Given the description of an element on the screen output the (x, y) to click on. 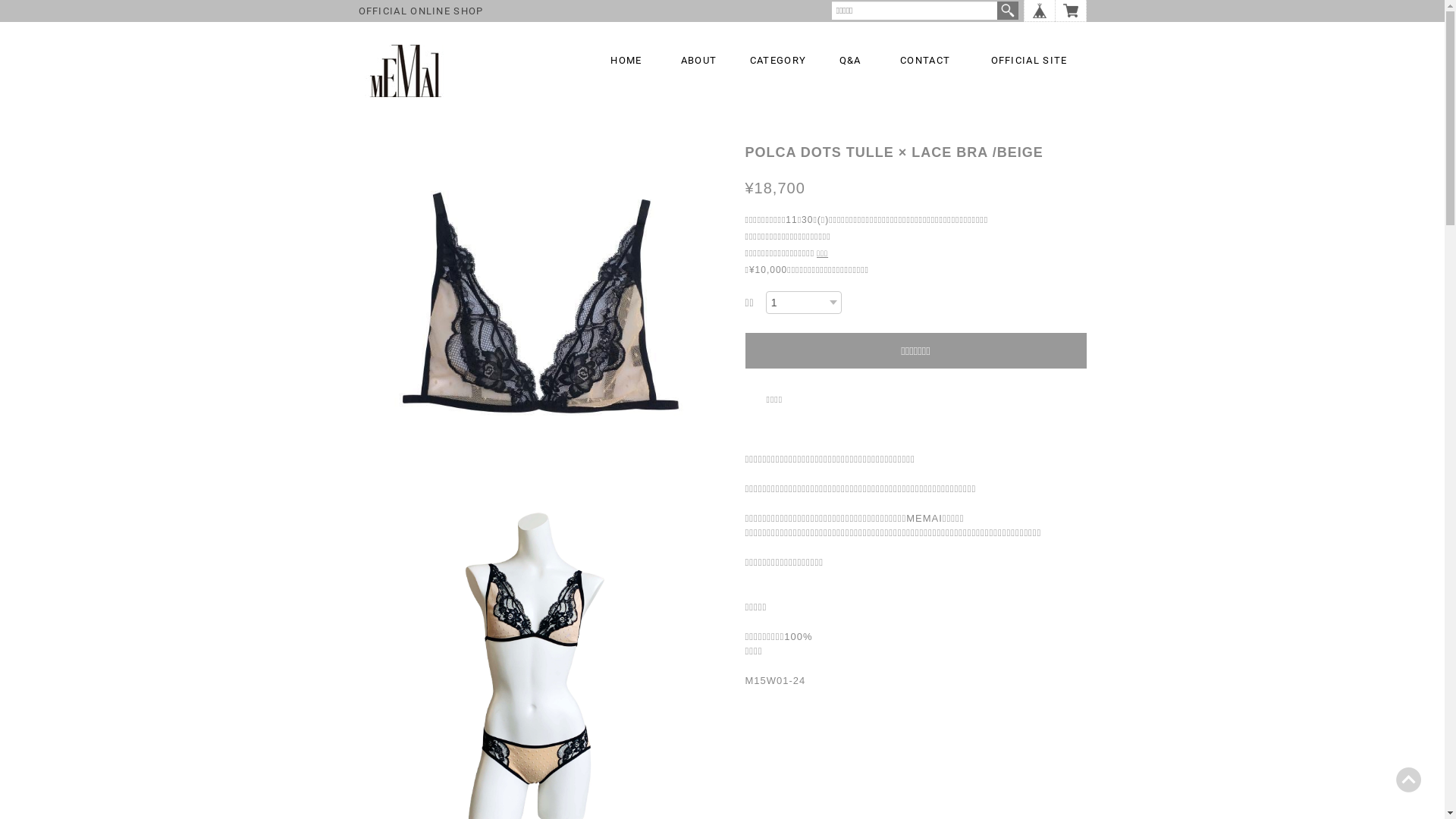
HOME Element type: text (625, 62)
BASE Element type: hover (1038, 10)
OFFICIAL SITE Element type: text (1029, 59)
ABOUT Element type: text (698, 62)
CONTACT Element type: text (925, 62)
Q&A Element type: text (850, 62)
